Given the description of an element on the screen output the (x, y) to click on. 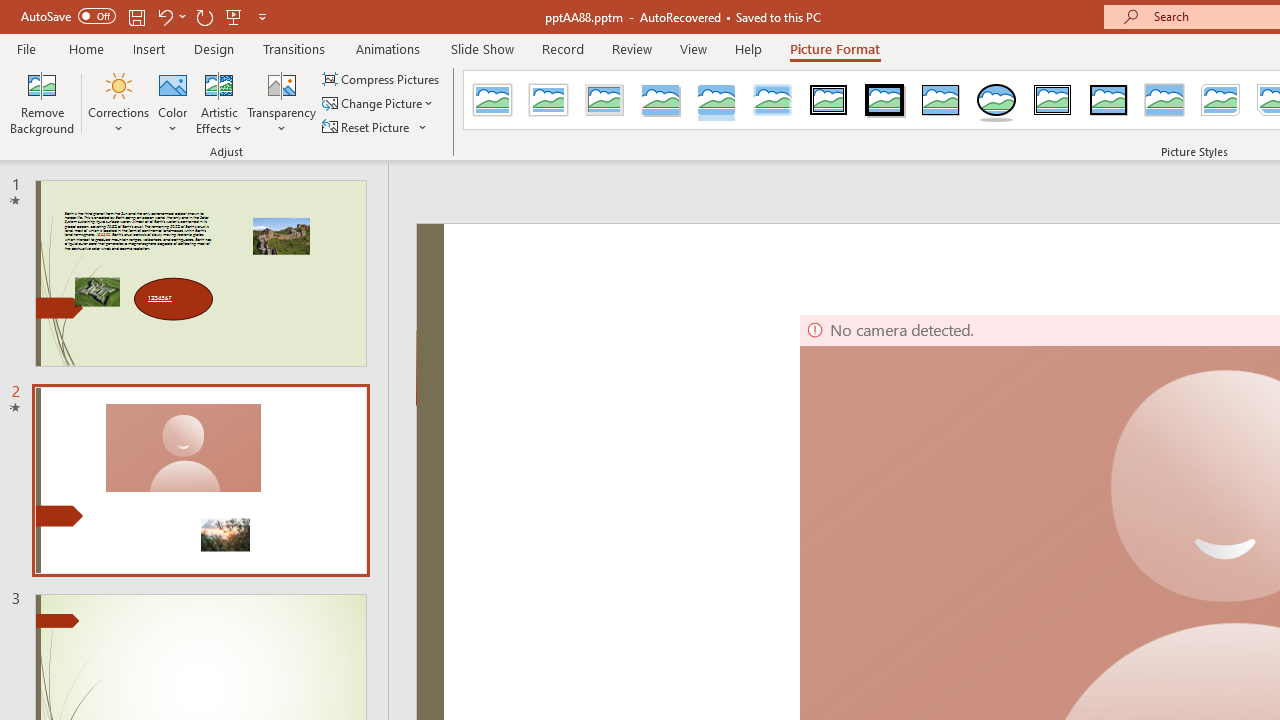
Picture Format (834, 48)
Beveled Matte, White (548, 100)
Change Picture (379, 103)
Corrections (118, 102)
Compound Frame, Black (1053, 100)
Color (173, 102)
Thick Matte, Black (884, 100)
Simple Frame, White (492, 100)
